Given the description of an element on the screen output the (x, y) to click on. 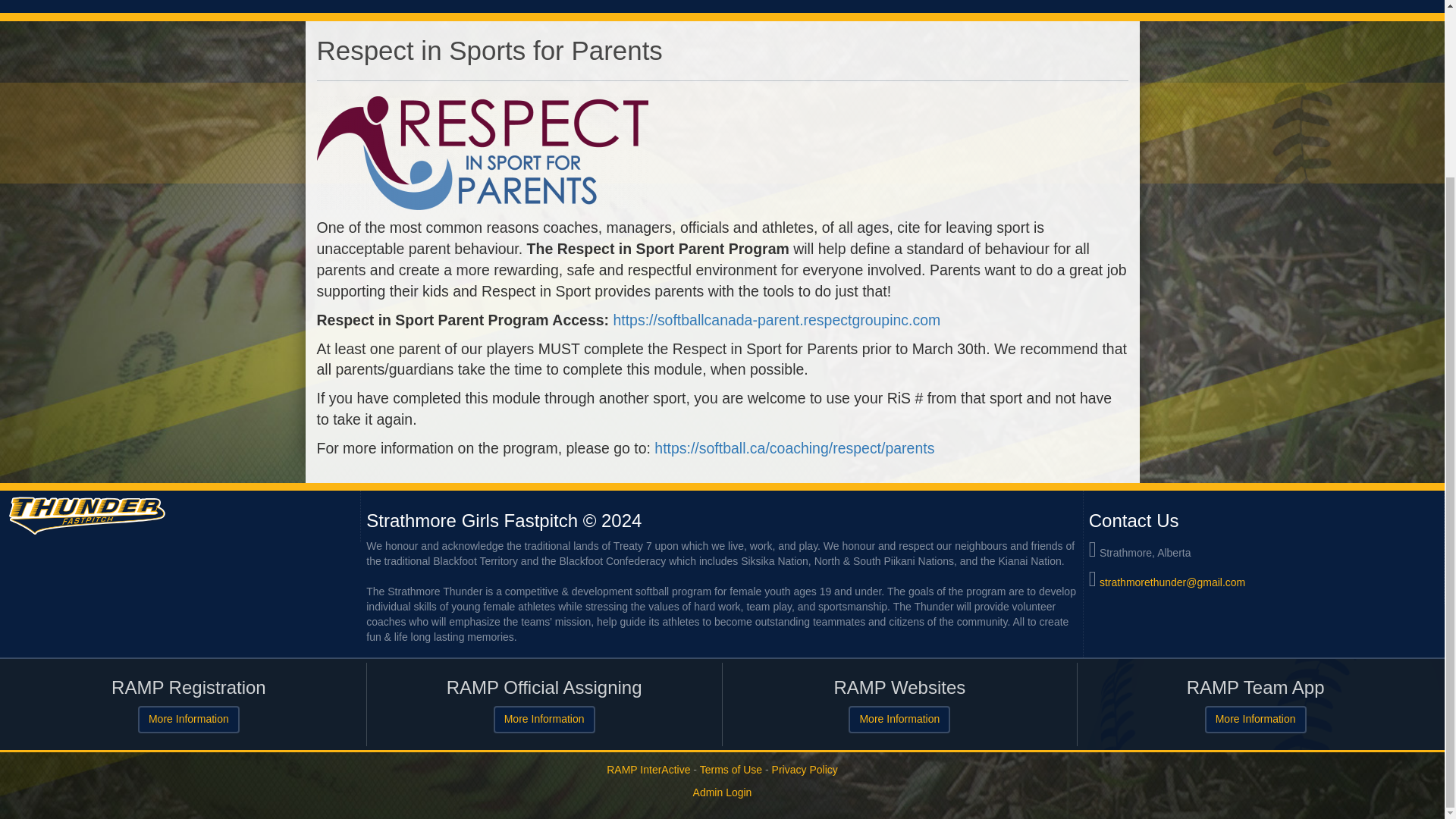
U11- GRANT (136, 6)
